Given the description of an element on the screen output the (x, y) to click on. 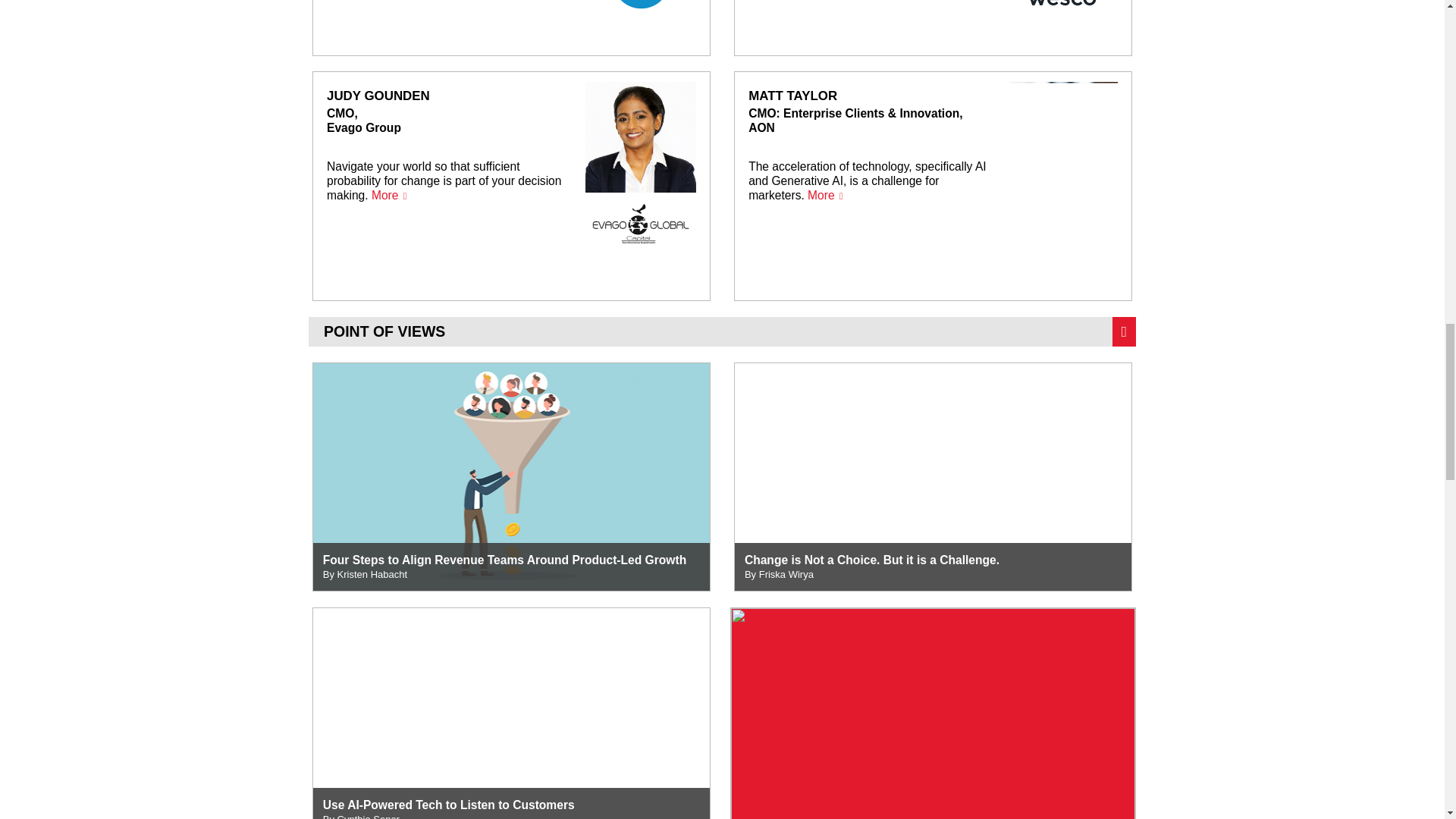
Get to Know KIMBERLY WARNE (933, 27)
Get to Know HELENA MAH (511, 27)
Get to Know JUDY GOUNDEN (511, 185)
Get to Know MATT TAYLOR (933, 185)
